Given the description of an element on the screen output the (x, y) to click on. 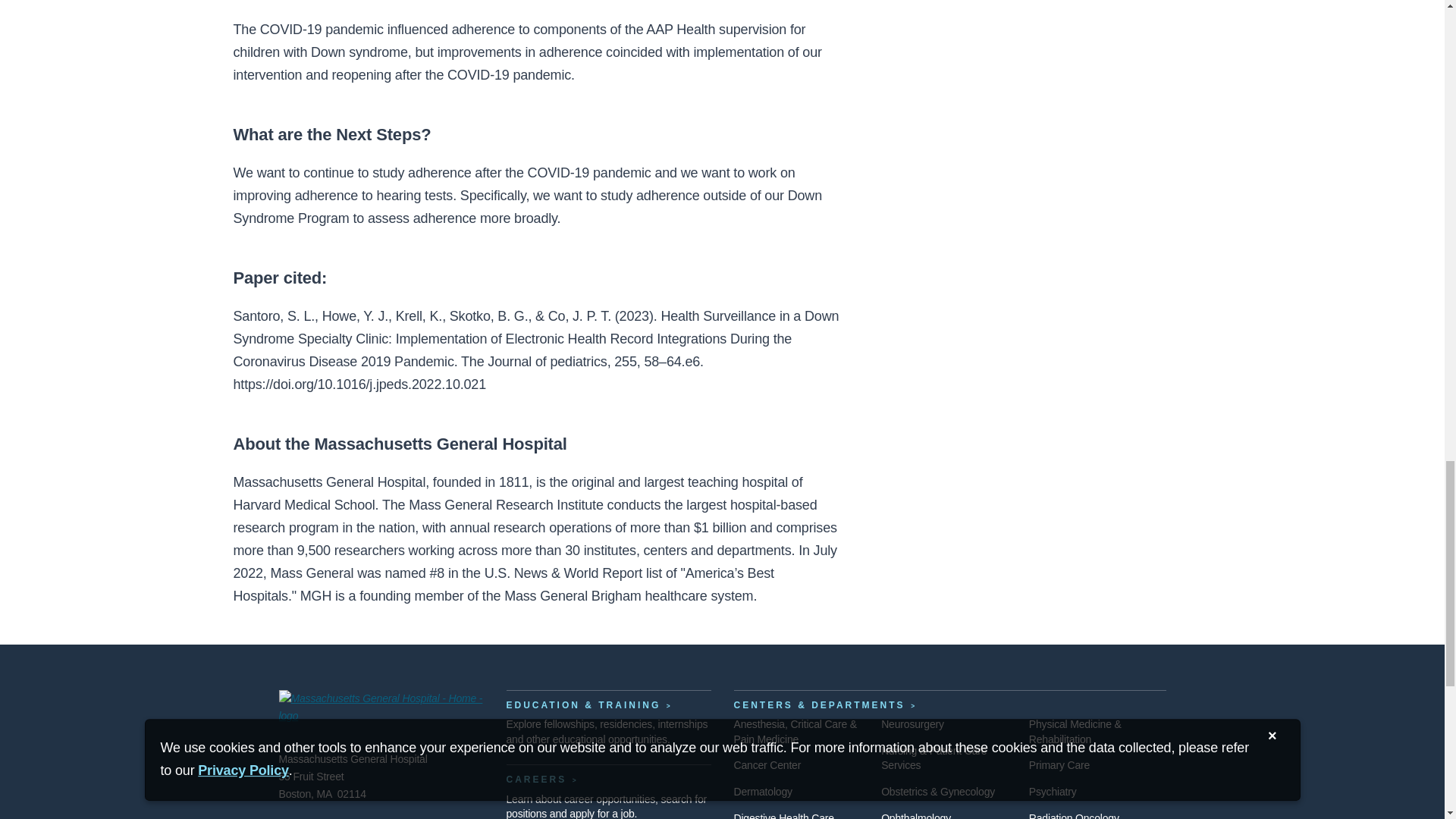
Massachusetts General Hospital - Home (381, 709)
